Given the description of an element on the screen output the (x, y) to click on. 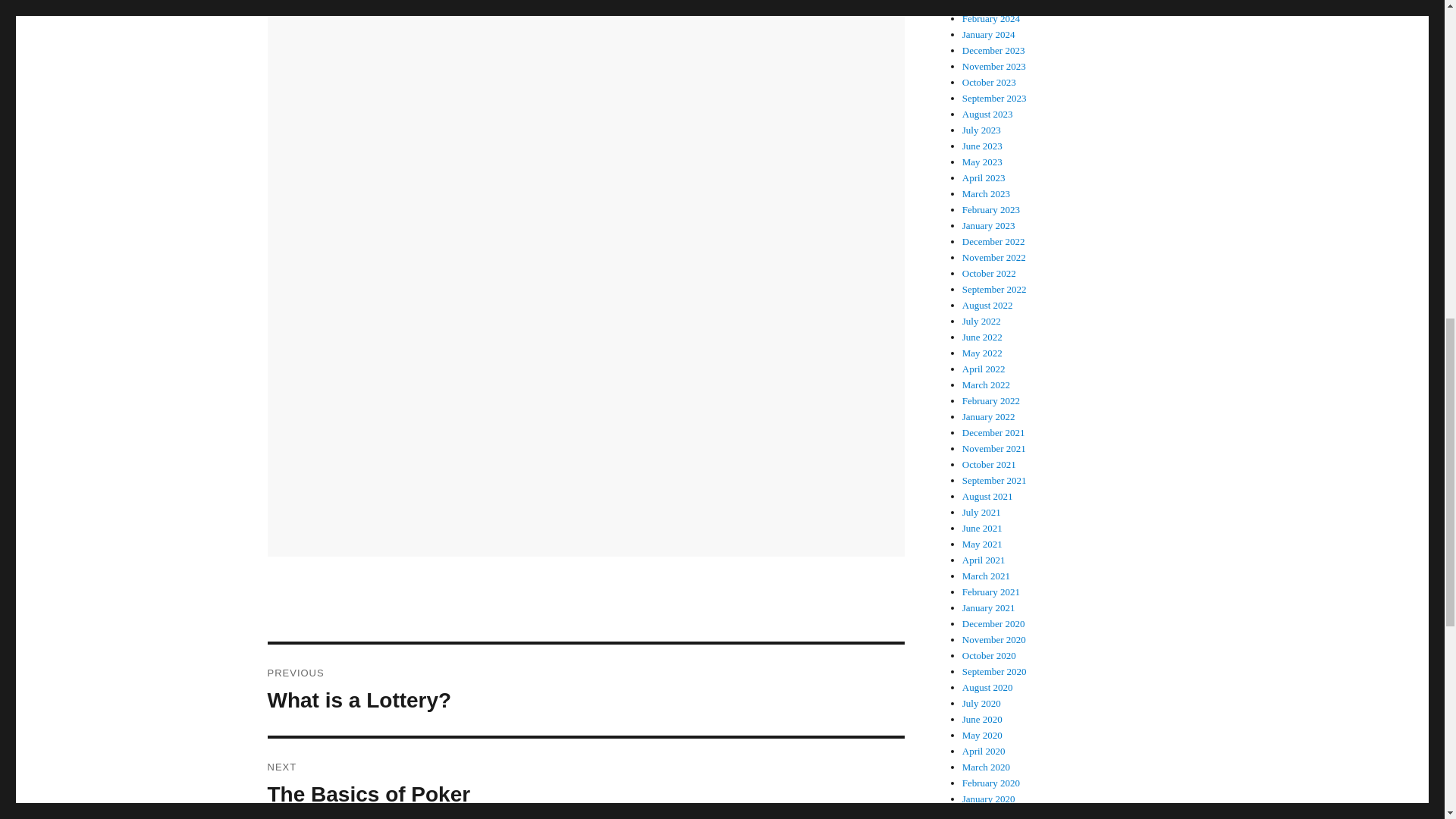
November 2023 (994, 66)
February 2023 (991, 209)
January 2024 (988, 34)
March 2024 (986, 4)
August 2023 (987, 113)
January 2023 (988, 225)
October 2023 (989, 81)
July 2023 (981, 129)
September 2022 (994, 288)
June 2023 (982, 145)
September 2023 (994, 98)
December 2022 (585, 689)
February 2024 (993, 241)
October 2022 (991, 18)
